Given the description of an element on the screen output the (x, y) to click on. 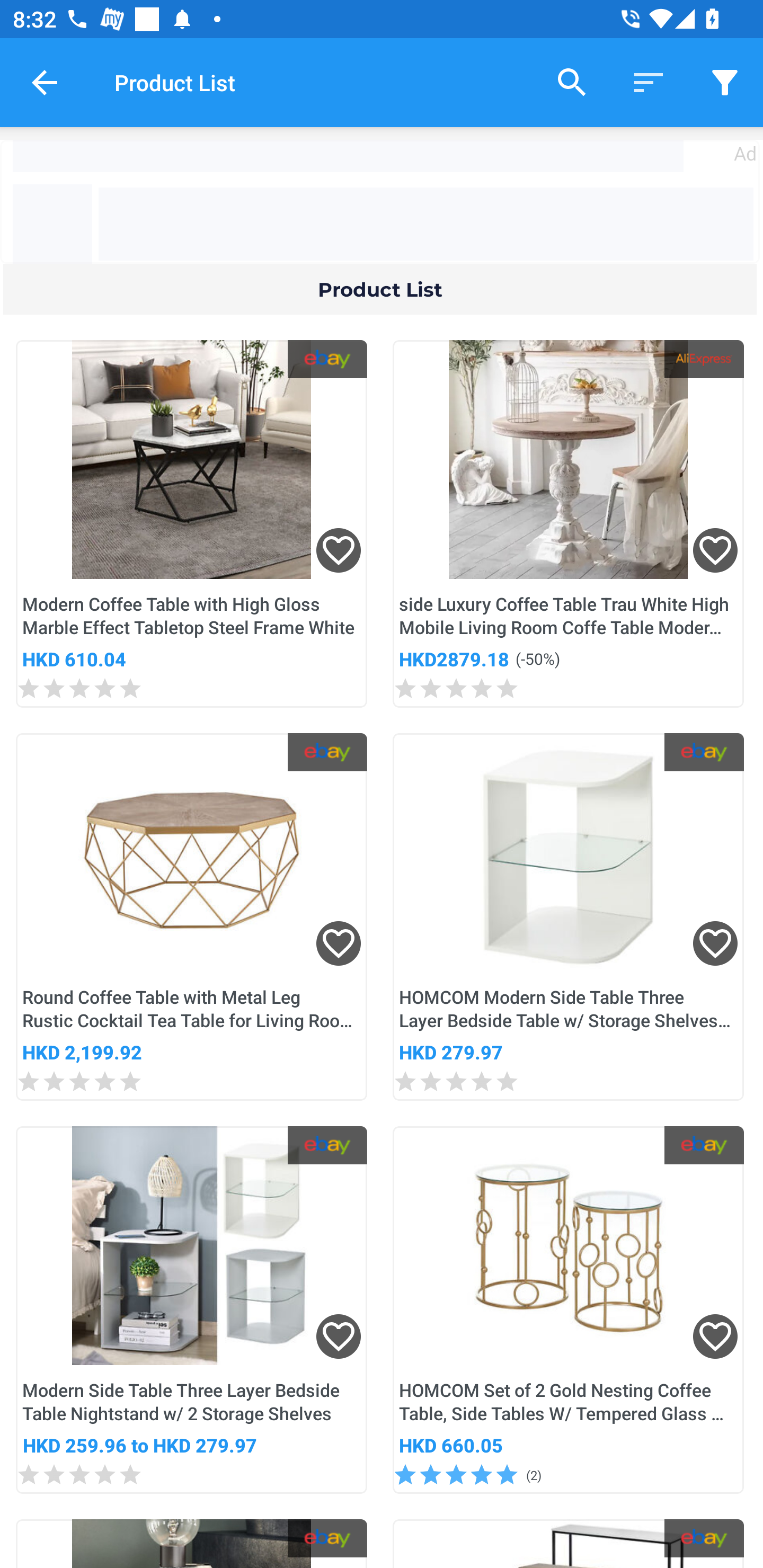
Navigate up (44, 82)
Search (572, 81)
short (648, 81)
short (724, 81)
